Given the description of an element on the screen output the (x, y) to click on. 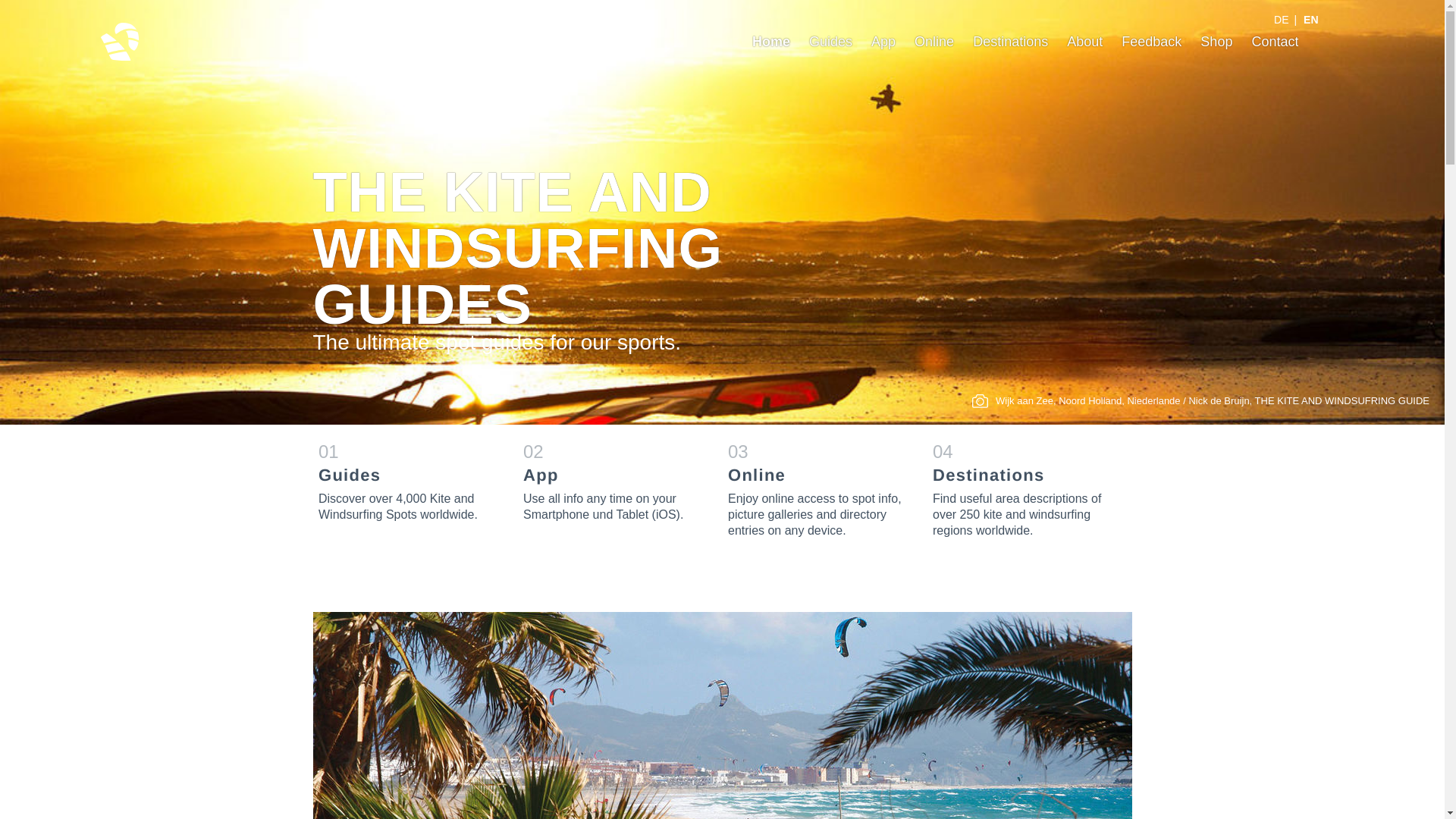
About (1084, 41)
Contact (1274, 41)
Guides (830, 41)
Feedback (1150, 41)
Contact (1274, 41)
Feedback (1150, 41)
Online (818, 488)
Shop (1215, 41)
App (882, 41)
Onlineshop (1215, 41)
Destinations (1010, 41)
Destinations (1010, 41)
